Given the description of an element on the screen output the (x, y) to click on. 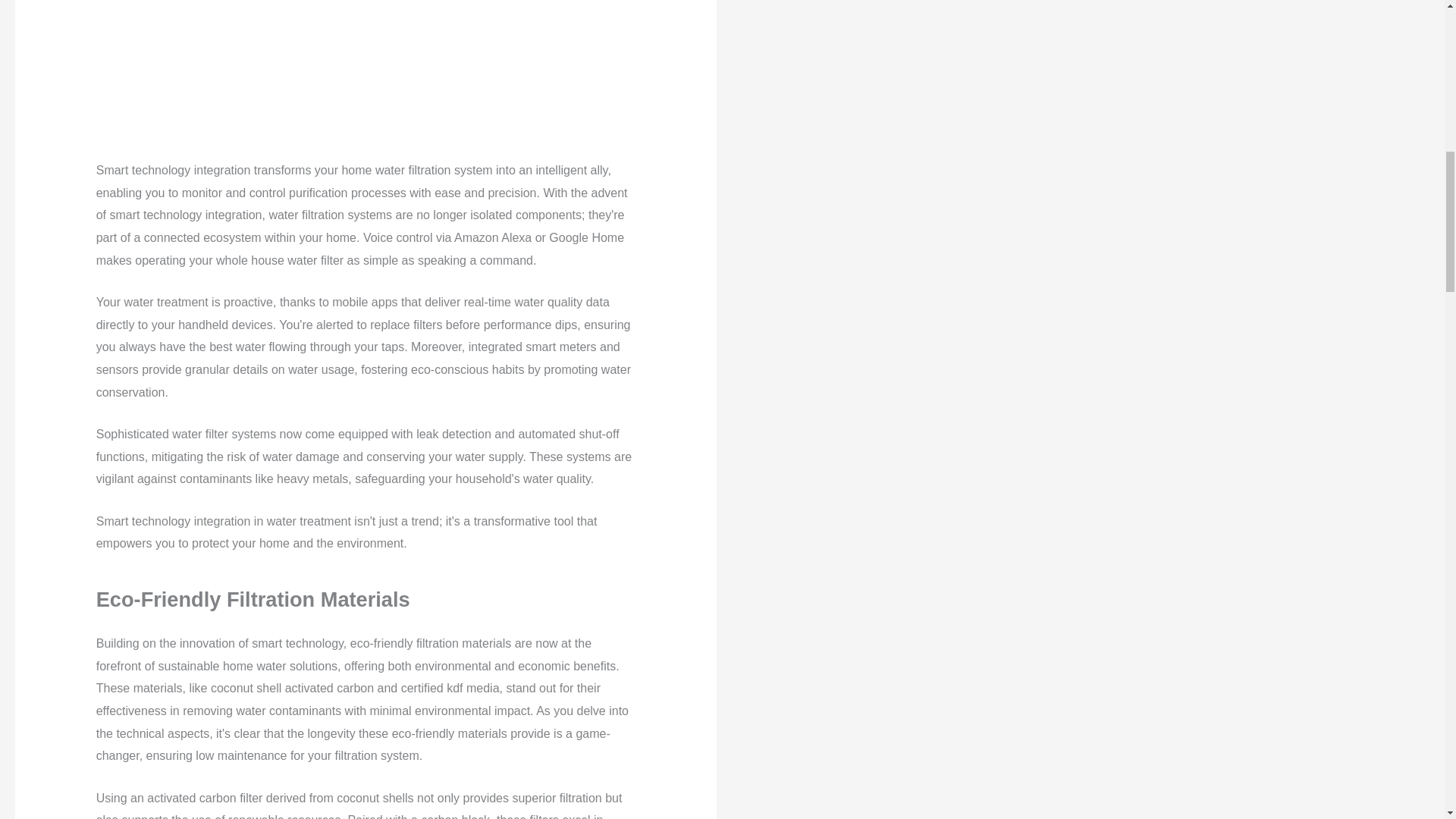
YouTube video player (366, 72)
